Given the description of an element on the screen output the (x, y) to click on. 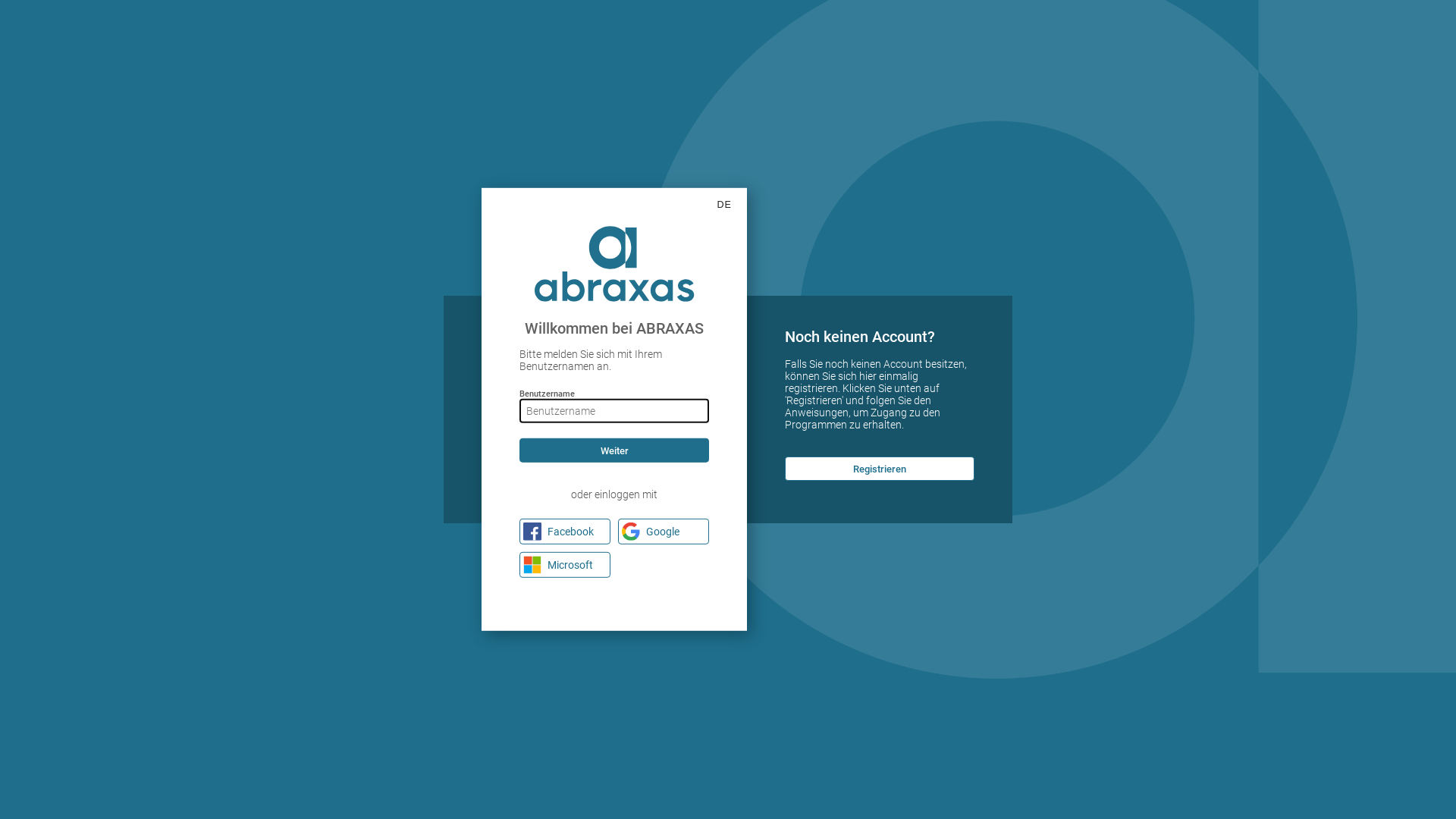
Microsoft Element type: text (564, 564)
Facebook Element type: text (564, 531)
DE Element type: text (724, 204)
Google Element type: text (663, 531)
Weiter Element type: text (614, 450)
Registrieren Element type: text (879, 468)
Registrieren Element type: text (879, 468)
